Given the description of an element on the screen output the (x, y) to click on. 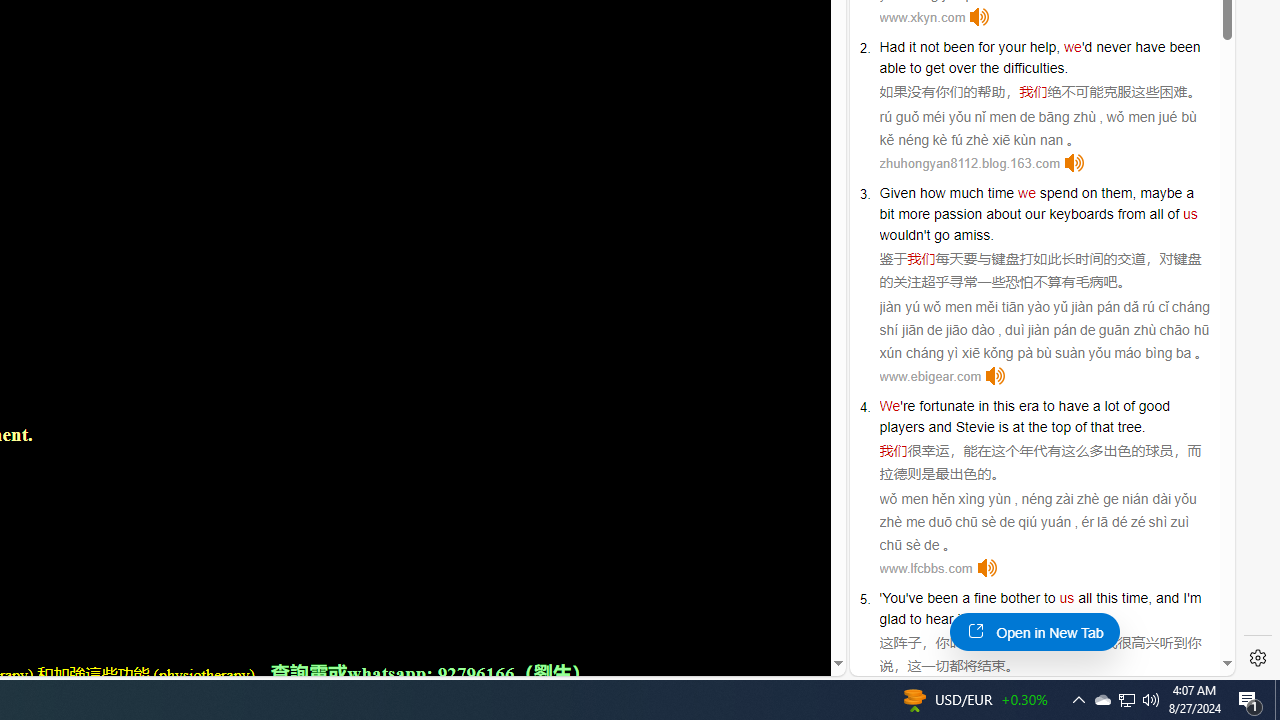
We (890, 405)
difficulties (1033, 67)
stop (1044, 619)
www.xkyn.com (922, 17)
keyboards (1081, 213)
